Given the description of an element on the screen output the (x, y) to click on. 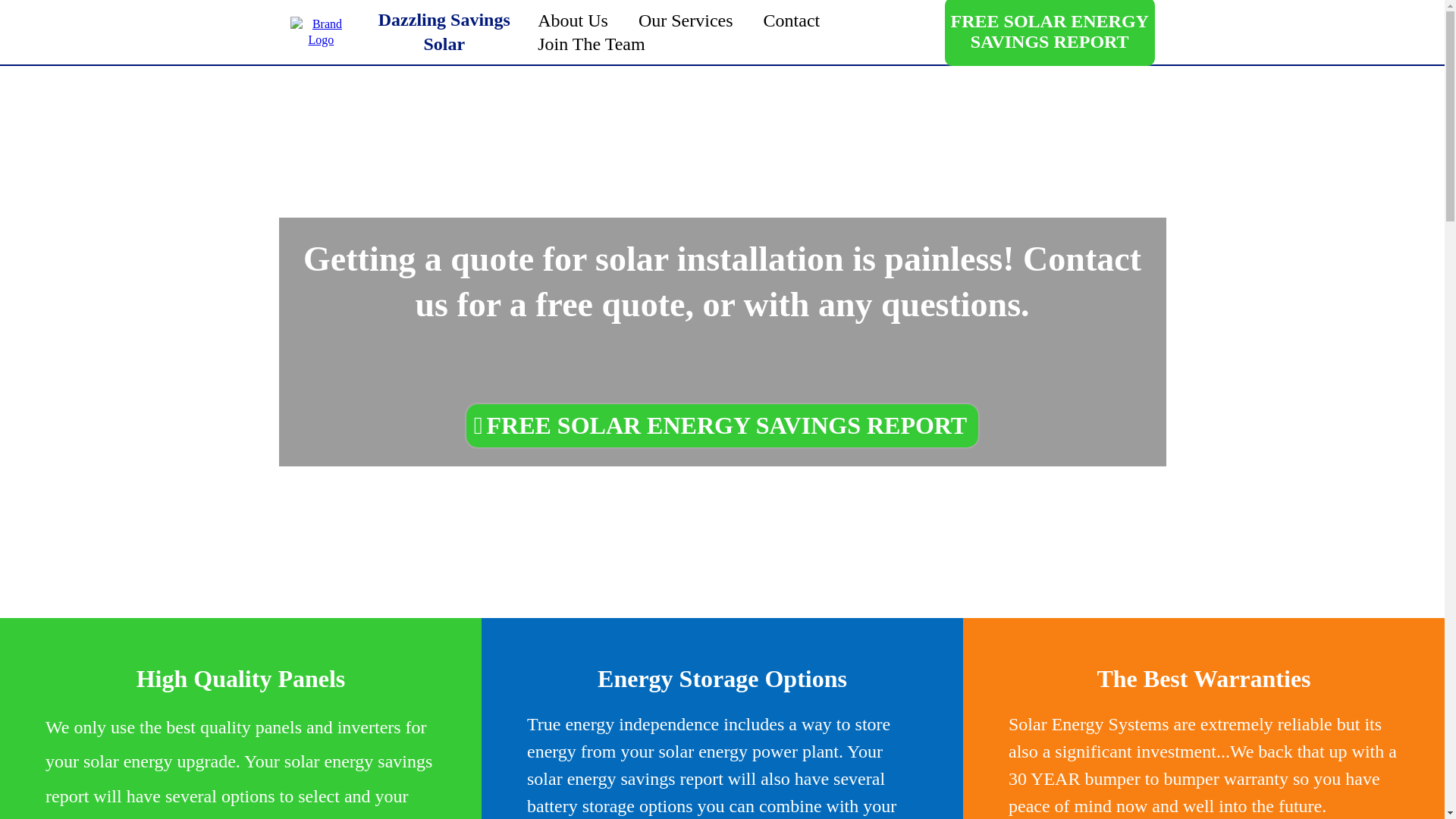
About Us (572, 20)
FREE SOLAR ENERGY SAVINGS REPORT (1049, 33)
Join The Team (590, 43)
Contact (791, 20)
FREE SOLAR ENERGY SAVINGS REPORT (721, 425)
Our Services (685, 20)
